Given the description of an element on the screen output the (x, y) to click on. 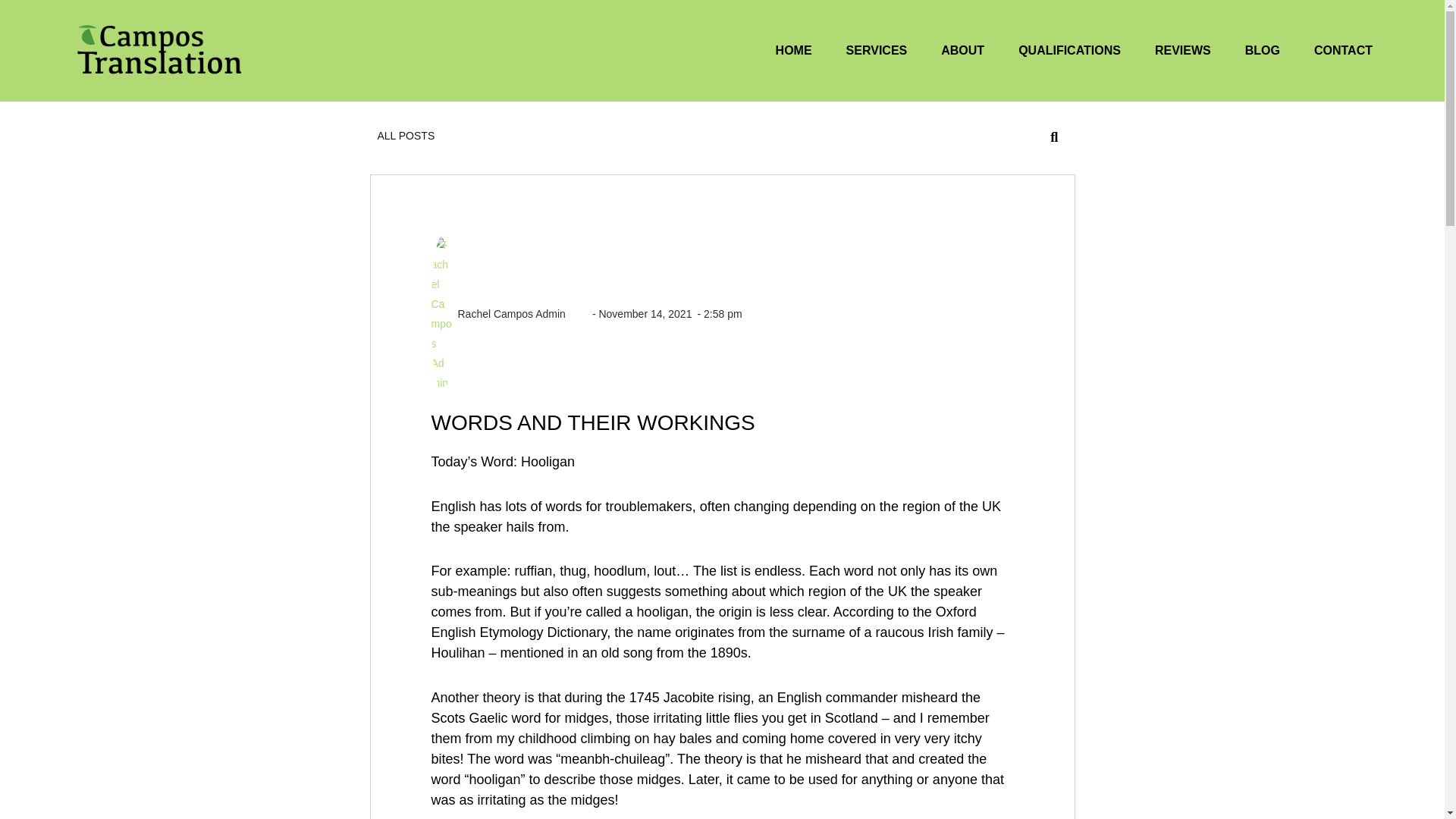
CONTACT (1343, 50)
REVIEWS (1182, 50)
ABOUT (962, 50)
BLOG (1262, 50)
ALL POSTS (406, 135)
HOME (794, 50)
SERVICES (876, 50)
QUALIFICATIONS (1069, 50)
- November 14, 2021 (629, 314)
